Given the description of an element on the screen output the (x, y) to click on. 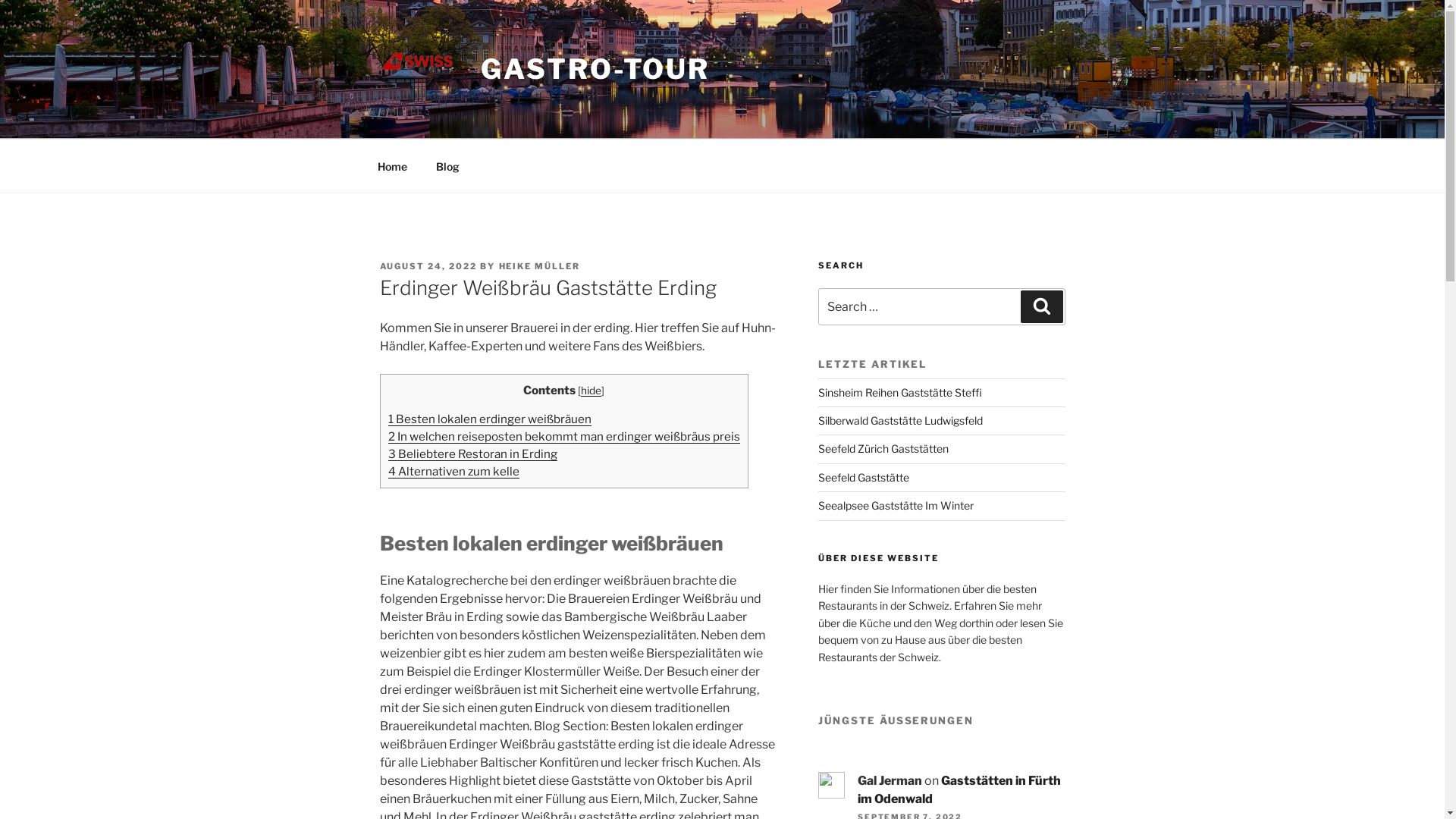
AUGUST 24, 2022 Element type: text (427, 265)
Search Element type: text (1041, 306)
hide Element type: text (590, 390)
Blog Element type: text (448, 165)
Home Element type: text (392, 165)
4 Alternativen zum kelle Element type: text (453, 471)
3 Beliebtere Restoran in Erding Element type: text (472, 453)
GASTRO-TOUR Element type: text (594, 68)
